Given the description of an element on the screen output the (x, y) to click on. 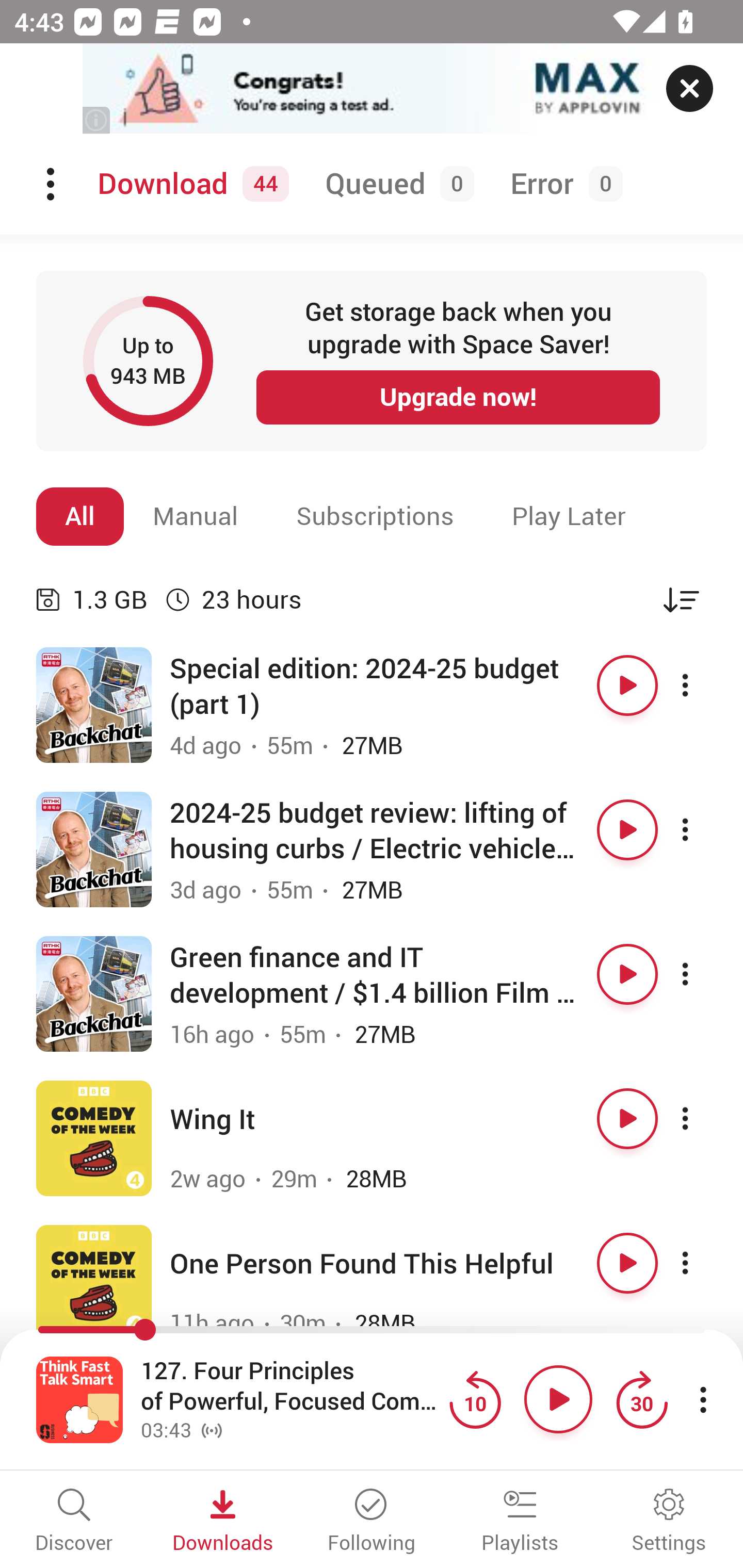
app-monetization (371, 88)
(i) (96, 119)
Menu (52, 184)
 Download 44 (189, 184)
 Queued 0 (396, 184)
 Error 0 (562, 184)
All (80, 516)
Manual (195, 516)
Subscriptions (374, 516)
Play Later (568, 516)
Change sort order (681, 599)
Play button (627, 685)
More options (703, 685)
Open series Backchat (93, 705)
Play button (627, 830)
More options (703, 830)
Open series Backchat (93, 849)
Play button (627, 974)
More options (703, 974)
Open series Backchat (93, 994)
Play button (627, 1118)
More options (703, 1118)
Open series Comedy of the Week (93, 1138)
Play button (627, 1263)
More options (703, 1263)
Open series Comedy of the Week (93, 1282)
Open fullscreen player (79, 1399)
More player controls (703, 1399)
Play button (558, 1398)
Jump back (475, 1399)
Jump forward (641, 1399)
Discover (74, 1521)
Downloads (222, 1521)
Following (371, 1521)
Playlists (519, 1521)
Settings (668, 1521)
